Given the description of an element on the screen output the (x, y) to click on. 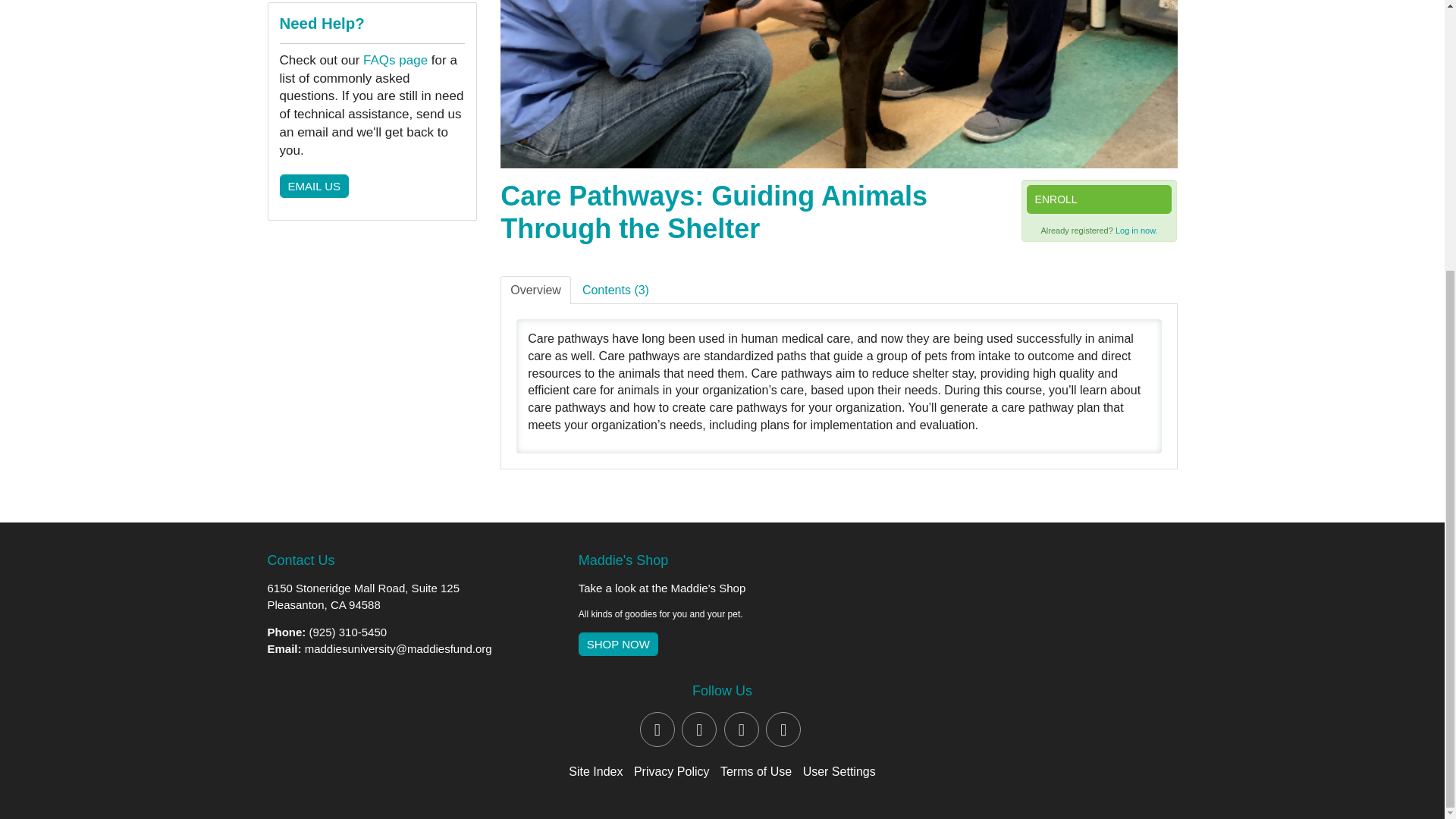
Log in now. (1136, 230)
ENROLL (1099, 199)
Overview (535, 289)
